Given the description of an element on the screen output the (x, y) to click on. 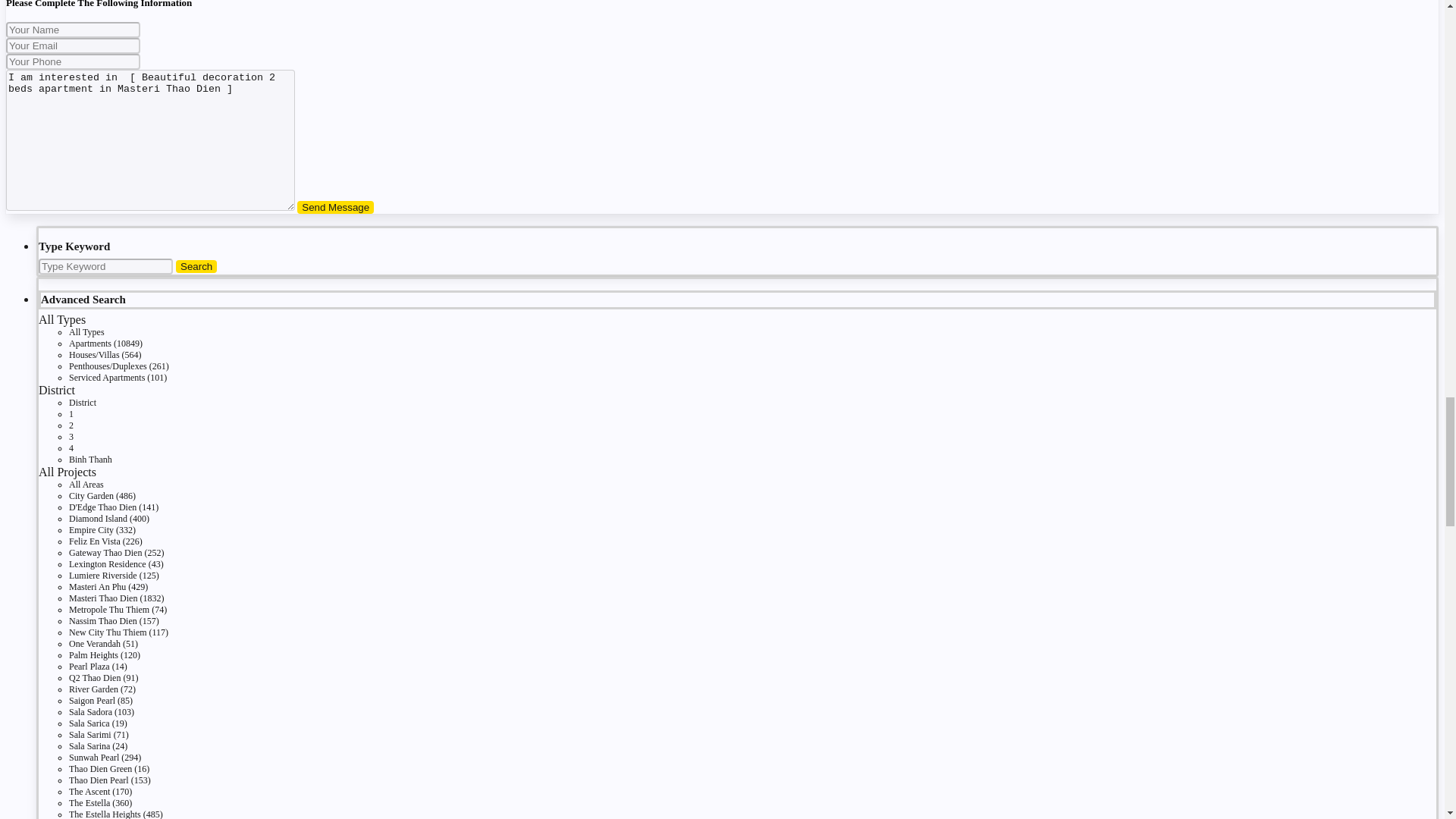
Search (196, 266)
Send Message (335, 206)
Send Message (335, 206)
